Given the description of an element on the screen output the (x, y) to click on. 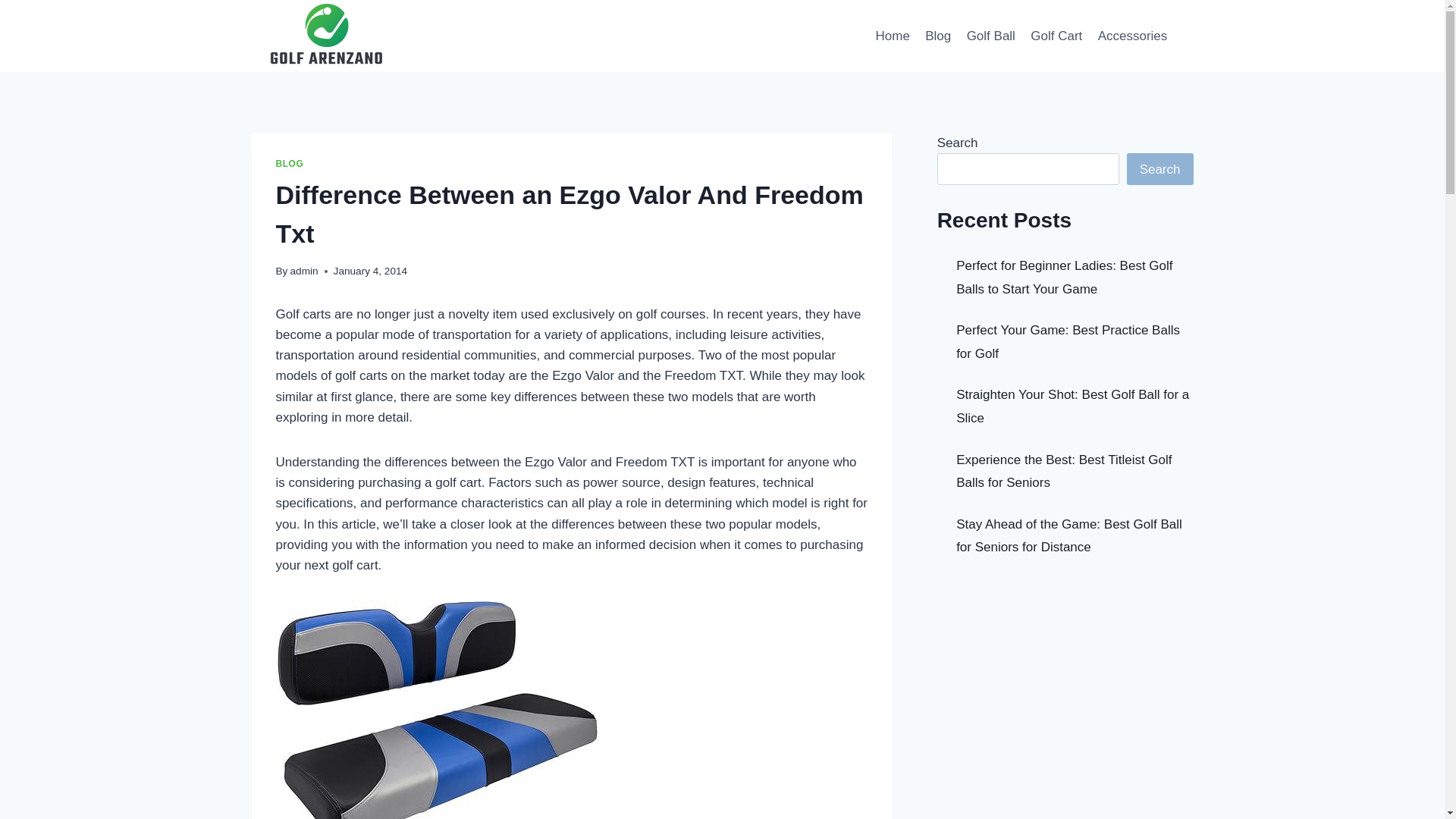
Golf Ball (990, 35)
Home (892, 35)
BLOG (290, 163)
admin (303, 270)
Blog (937, 35)
Accessories (1131, 35)
Golf Cart (1056, 35)
